Given the description of an element on the screen output the (x, y) to click on. 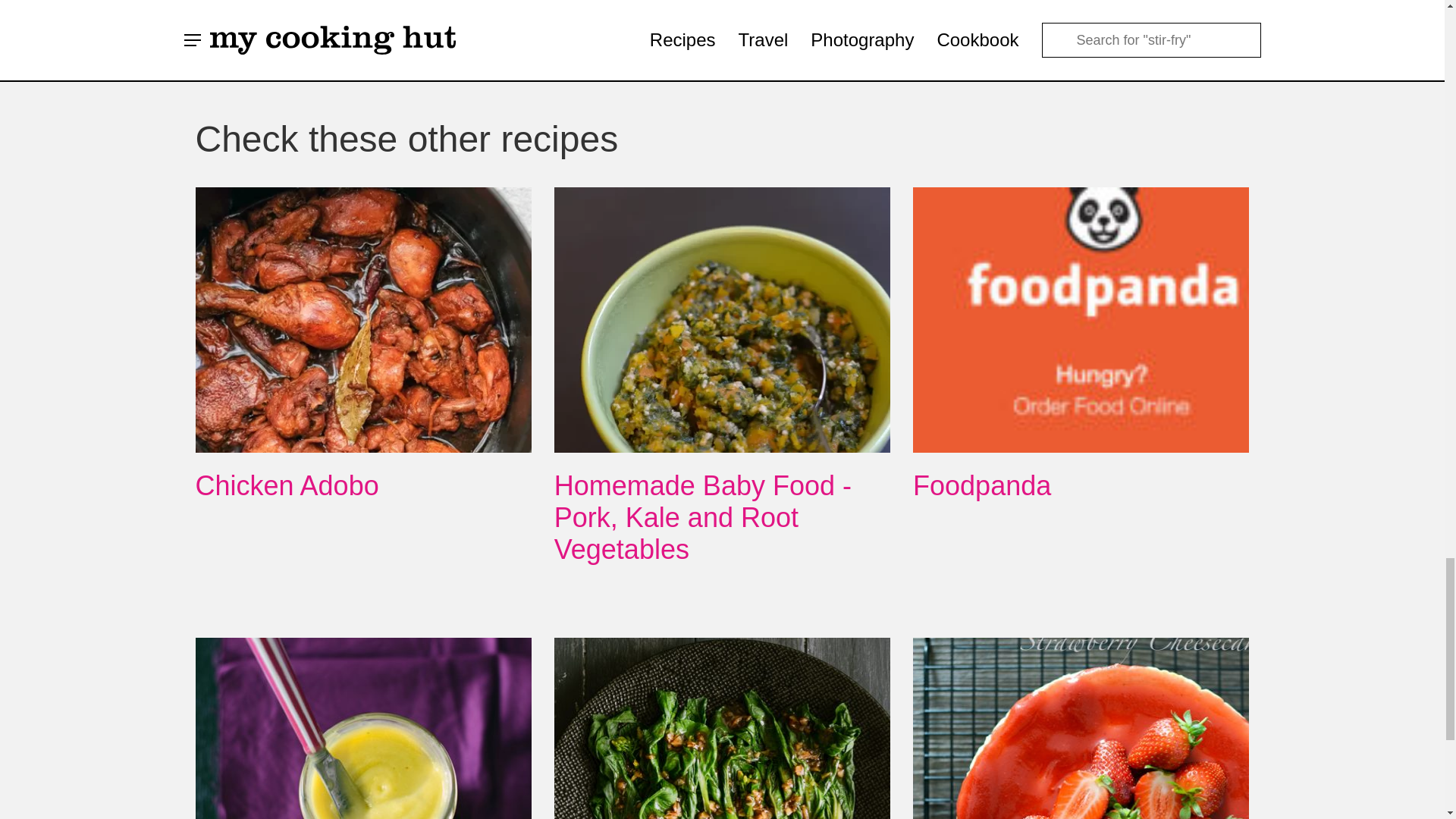
Chicken Adobo (286, 485)
Homemade Baby Food - Pork, Kale and Root Vegetables (702, 517)
Foodpanda (981, 485)
